Given the description of an element on the screen output the (x, y) to click on. 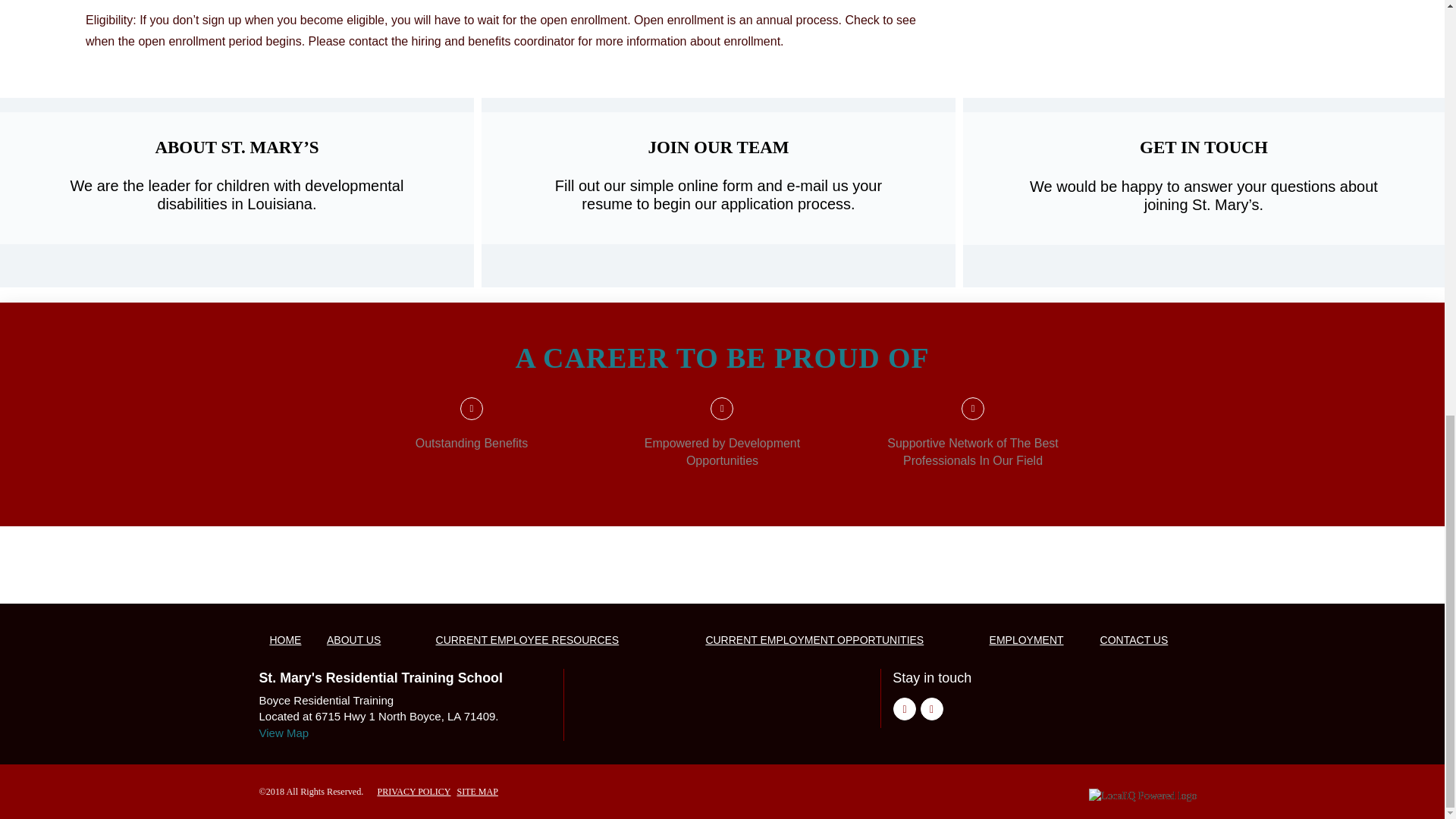
CURRENT EMPLOYMENT OPPORTUNITIES (815, 640)
ABOUT US (353, 640)
CONTACT US (1133, 640)
EMPLOYMENT (1027, 640)
View Map (283, 732)
SITE MAP (477, 791)
CURRENT EMPLOYEE RESOURCES (527, 640)
PRIVACY POLICY (413, 791)
HOME (286, 640)
